Given the description of an element on the screen output the (x, y) to click on. 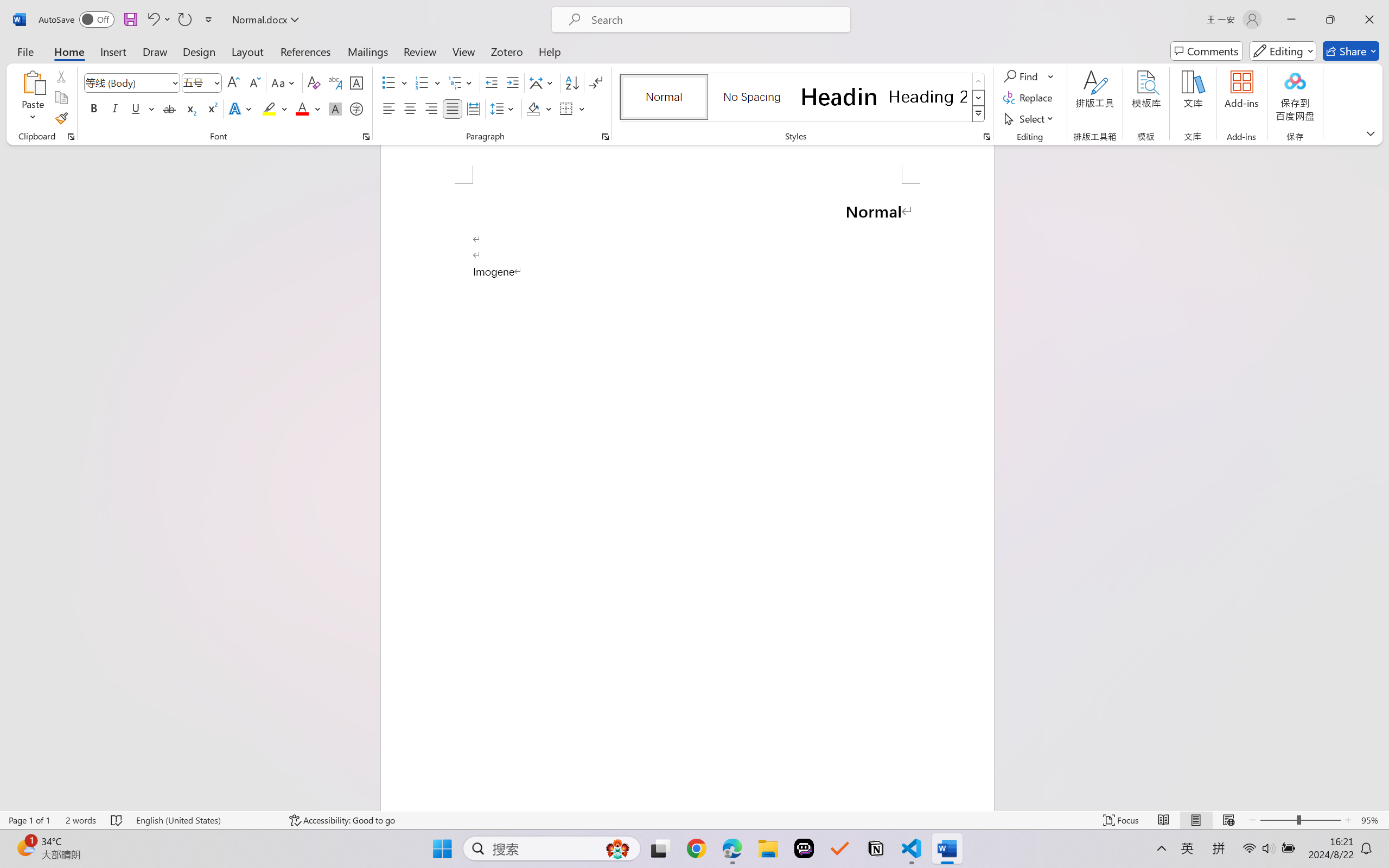
Font... (365, 136)
Italic (115, 108)
Line and Paragraph Spacing (503, 108)
Phonetic Guide... (334, 82)
Shrink Font (253, 82)
Paragraph... (605, 136)
Clear Formatting (313, 82)
